Given the description of an element on the screen output the (x, y) to click on. 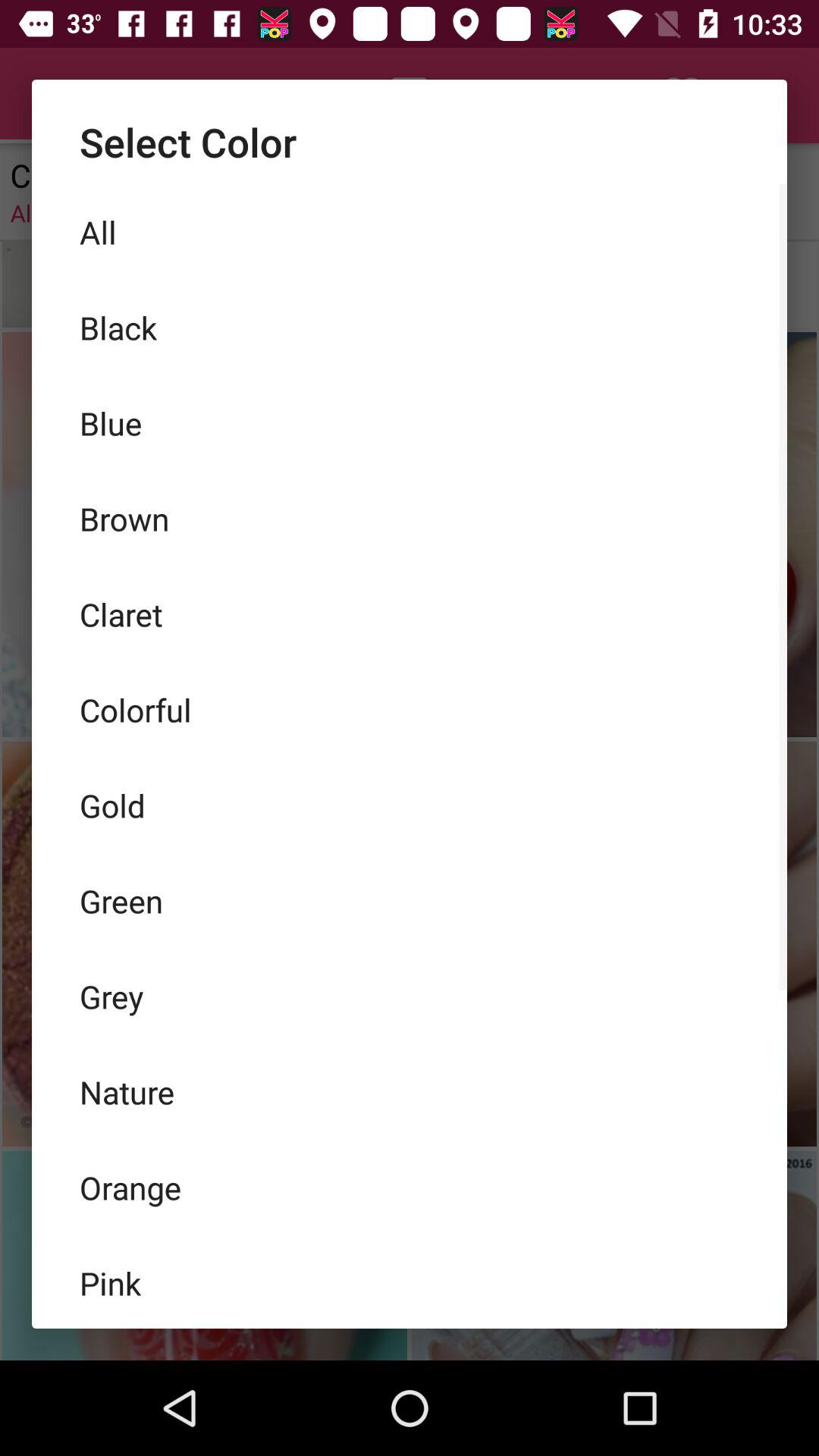
open icon above green (409, 805)
